Given the description of an element on the screen output the (x, y) to click on. 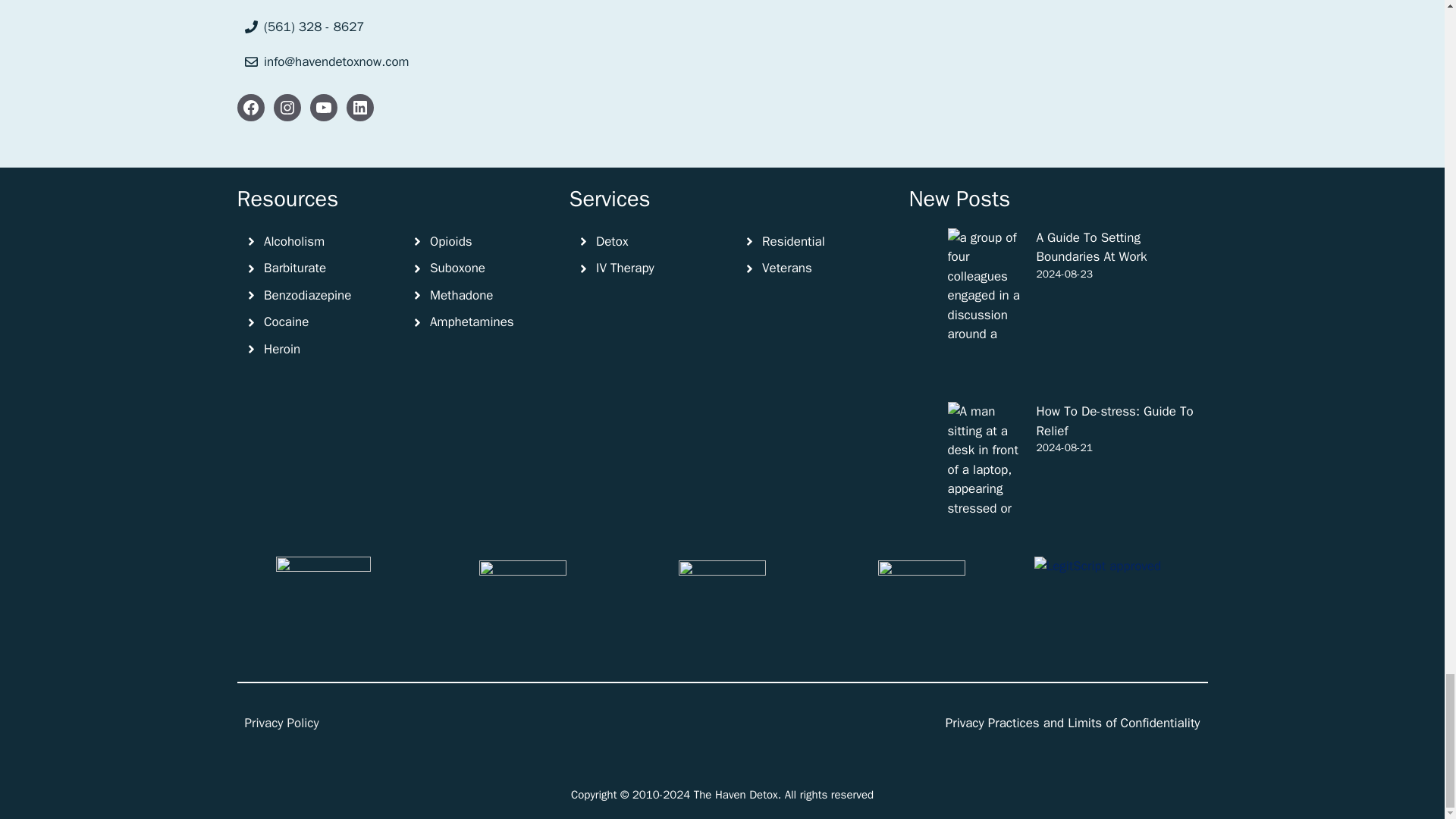
goldseal-removebg-preview (921, 603)
bfce4d29-c397-4c19-9095-2b397667e731 (323, 603)
Verify LegitScript Approval (1096, 565)
